Given the description of an element on the screen output the (x, y) to click on. 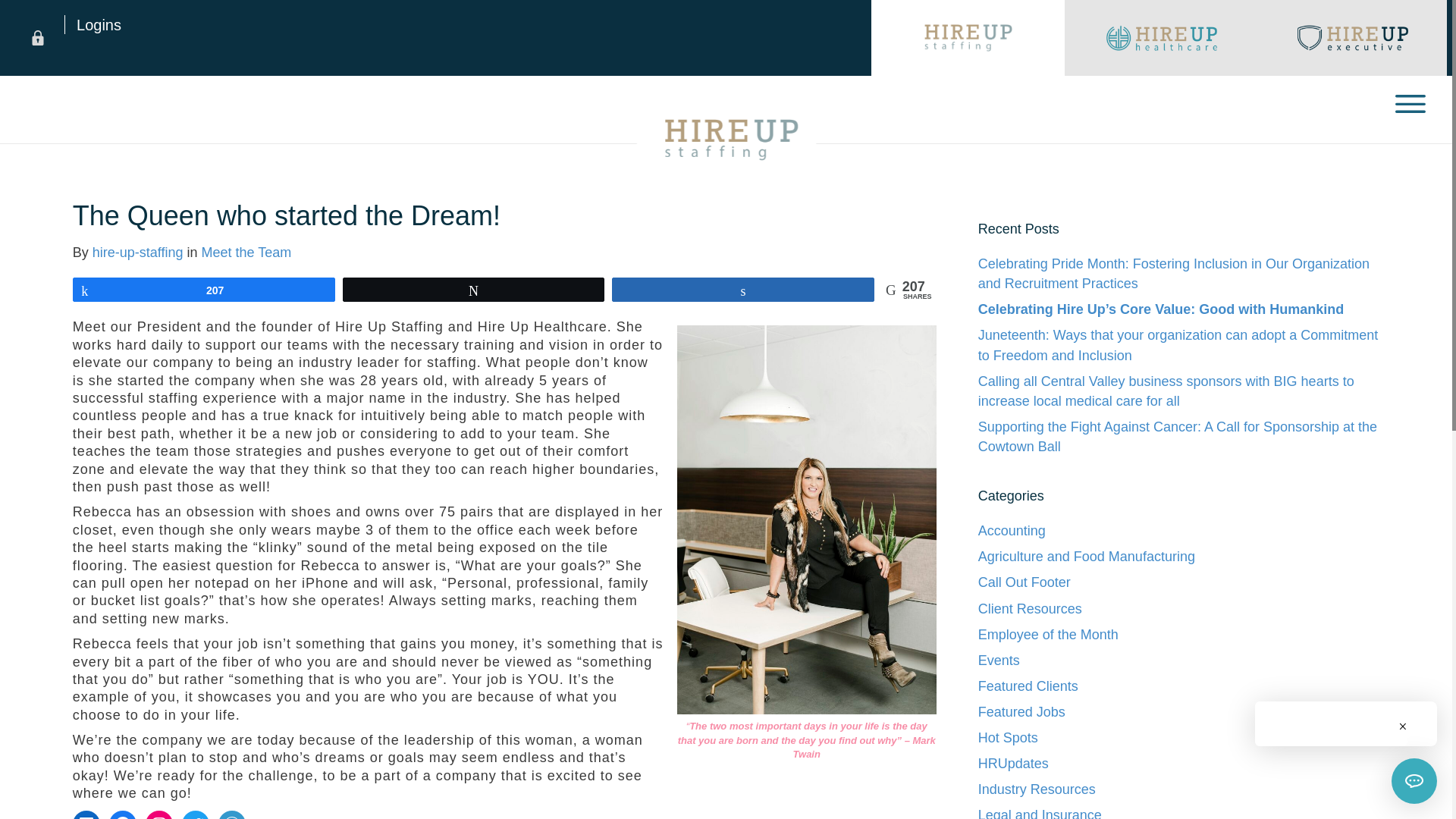
Logins (92, 24)
